Given the description of an element on the screen output the (x, y) to click on. 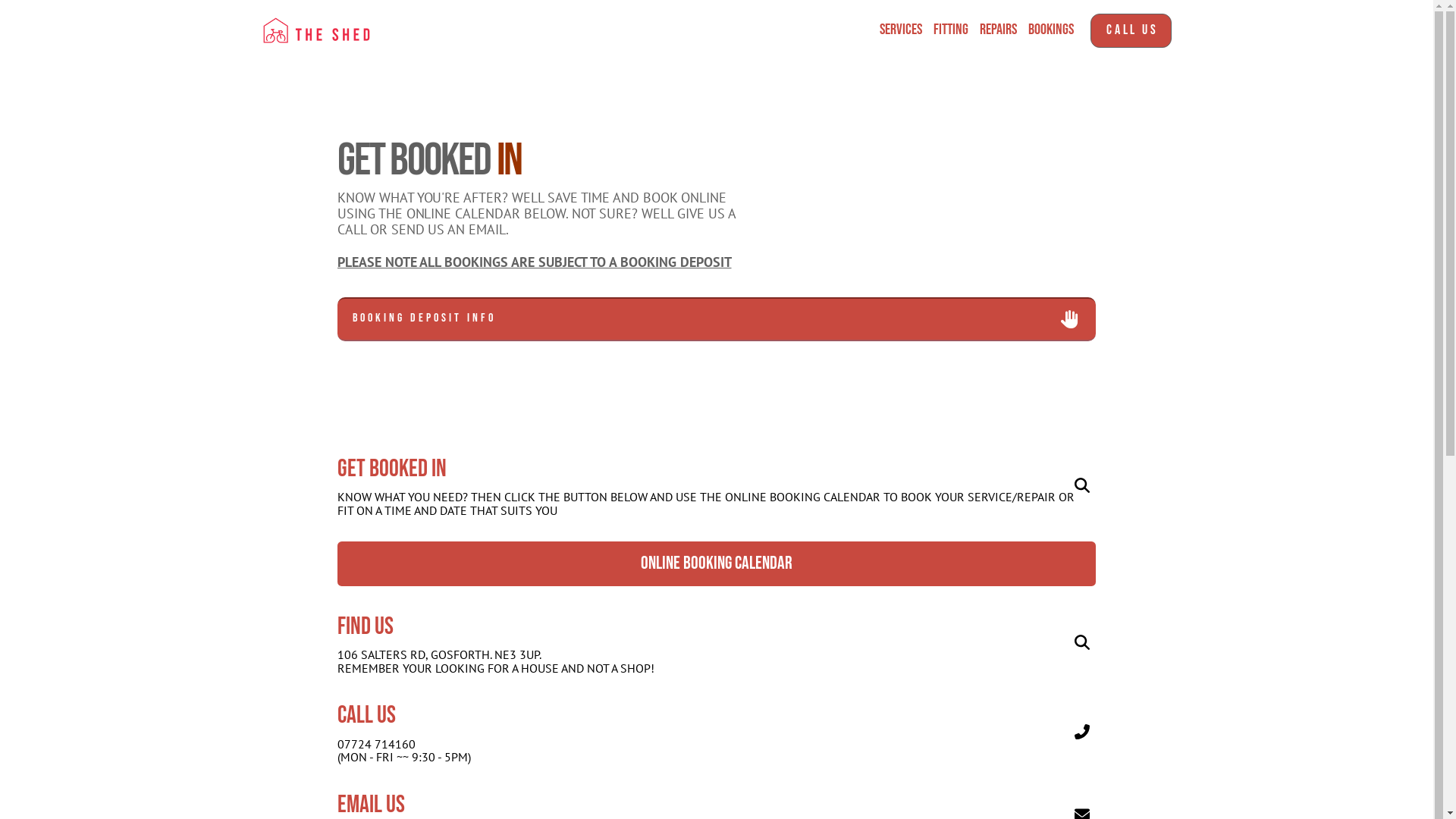
online booking calendar Element type: text (716, 563)
FITTING Element type: text (951, 29)
SERVICES Element type: text (901, 29)
REPAIRS Element type: text (998, 29)
BOOKINGS Element type: text (1050, 29)
CALL US Element type: text (1130, 30)
call us
07724 714160
(MON - FRI ~~ 9:30 - 5PM) Element type: text (716, 731)
BOOKING DEPOSIT INFO Element type: text (716, 318)
